Given the description of an element on the screen output the (x, y) to click on. 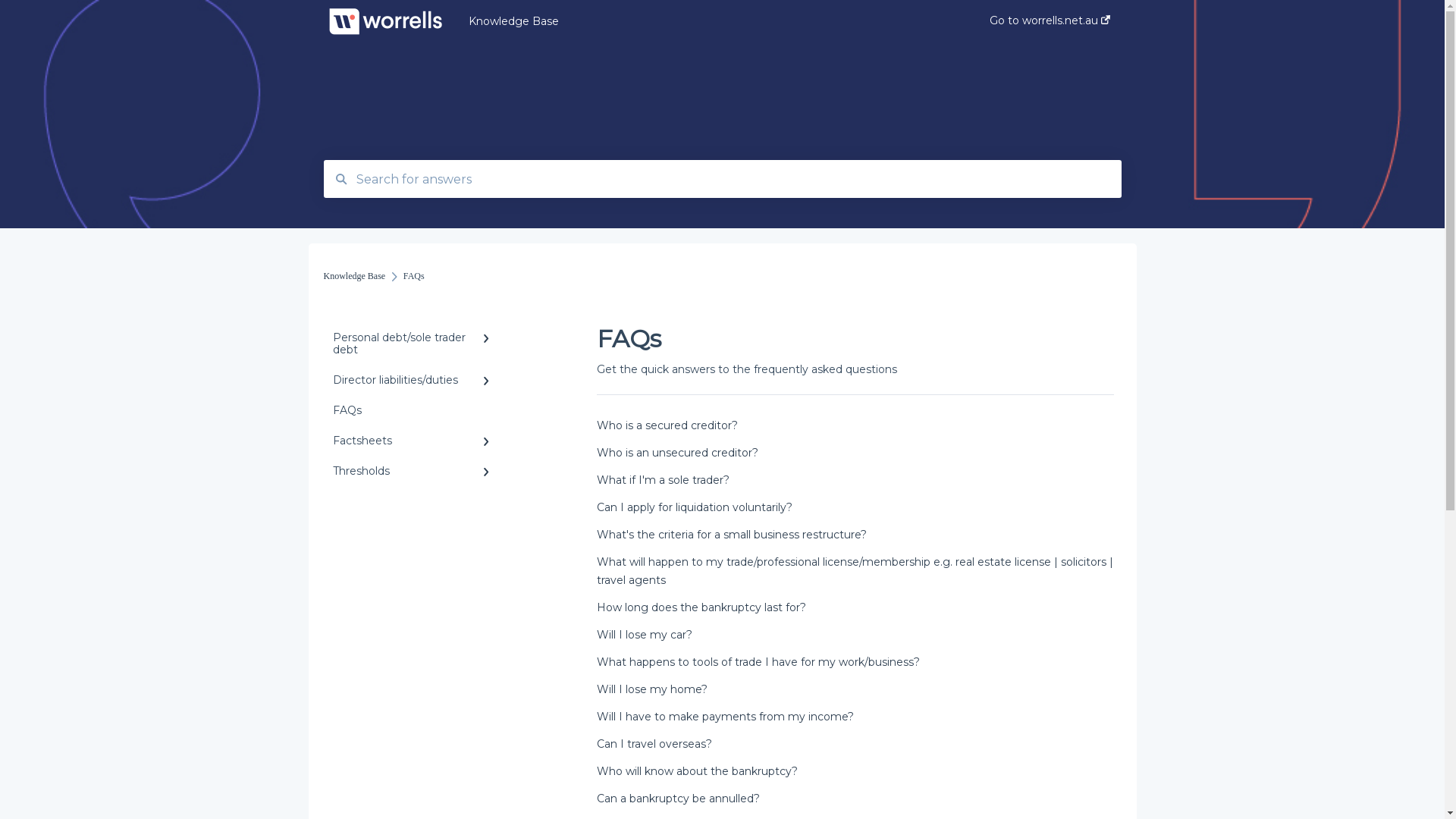
Knowledge Base Element type: text (354, 275)
Who is an unsecured creditor? Element type: text (677, 452)
Will I lose my car? Element type: text (644, 634)
FAQs Element type: text (414, 410)
Thresholds Element type: text (414, 470)
Personal debt/sole trader debt Element type: text (414, 343)
Can I apply for liquidation voluntarily? Element type: text (694, 507)
Will I have to make payments from my income? Element type: text (724, 716)
Who will know about the bankruptcy? Element type: text (696, 771)
Who is a secured creditor? Element type: text (666, 425)
Can a bankruptcy be annulled? Element type: text (677, 798)
What if I'm a sole trader? Element type: text (662, 479)
How long does the bankruptcy last for? Element type: text (701, 607)
What's the criteria for a small business restructure? Element type: text (731, 534)
Can I travel overseas? Element type: text (654, 743)
Knowledge Base Element type: text (706, 20)
Will I lose my home? Element type: text (651, 689)
What happens to tools of trade I have for my work/business? Element type: text (757, 661)
Director liabilities/duties Element type: text (414, 379)
Factsheets Element type: text (414, 440)
